Given the description of an element on the screen output the (x, y) to click on. 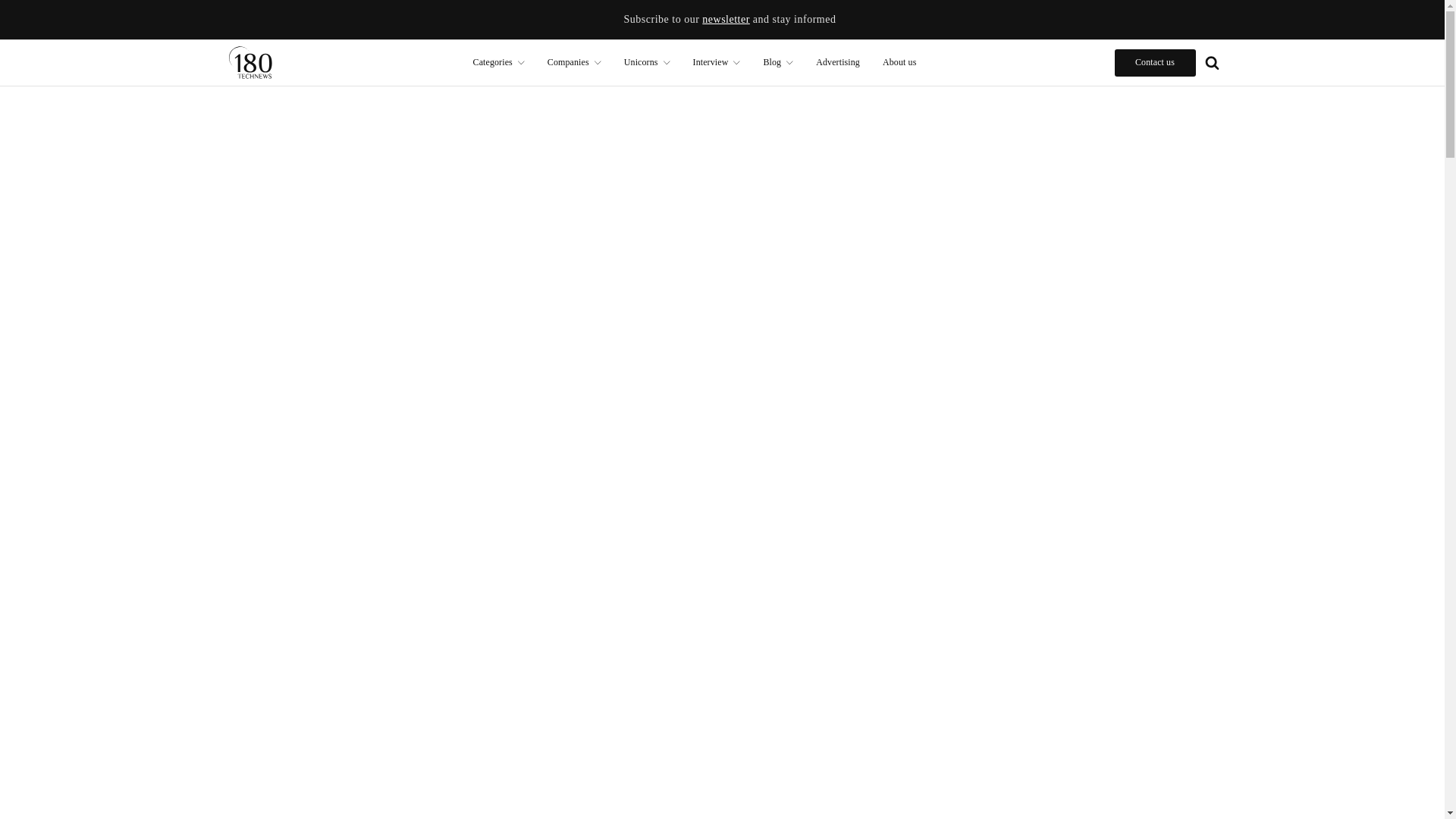
Contact us (1155, 62)
Unicorns (646, 62)
Blog (778, 62)
Companies (573, 62)
Interview (716, 62)
Categories (498, 62)
newsletter (725, 19)
Advertising (837, 62)
About us (898, 62)
